Given the description of an element on the screen output the (x, y) to click on. 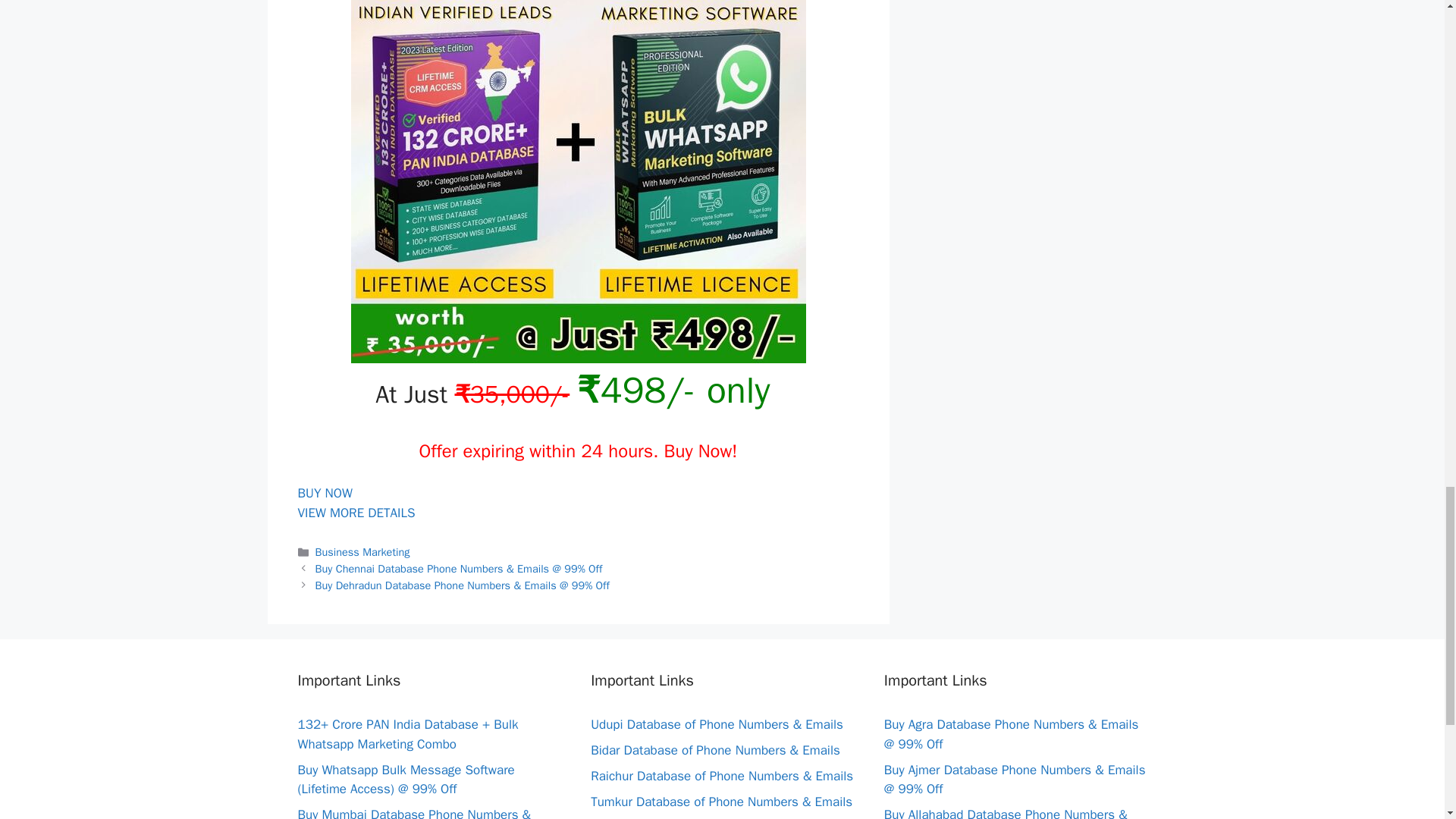
Business Marketing (362, 551)
BUY NOW (324, 493)
VIEW MORE DETAILS (355, 512)
